Given the description of an element on the screen output the (x, y) to click on. 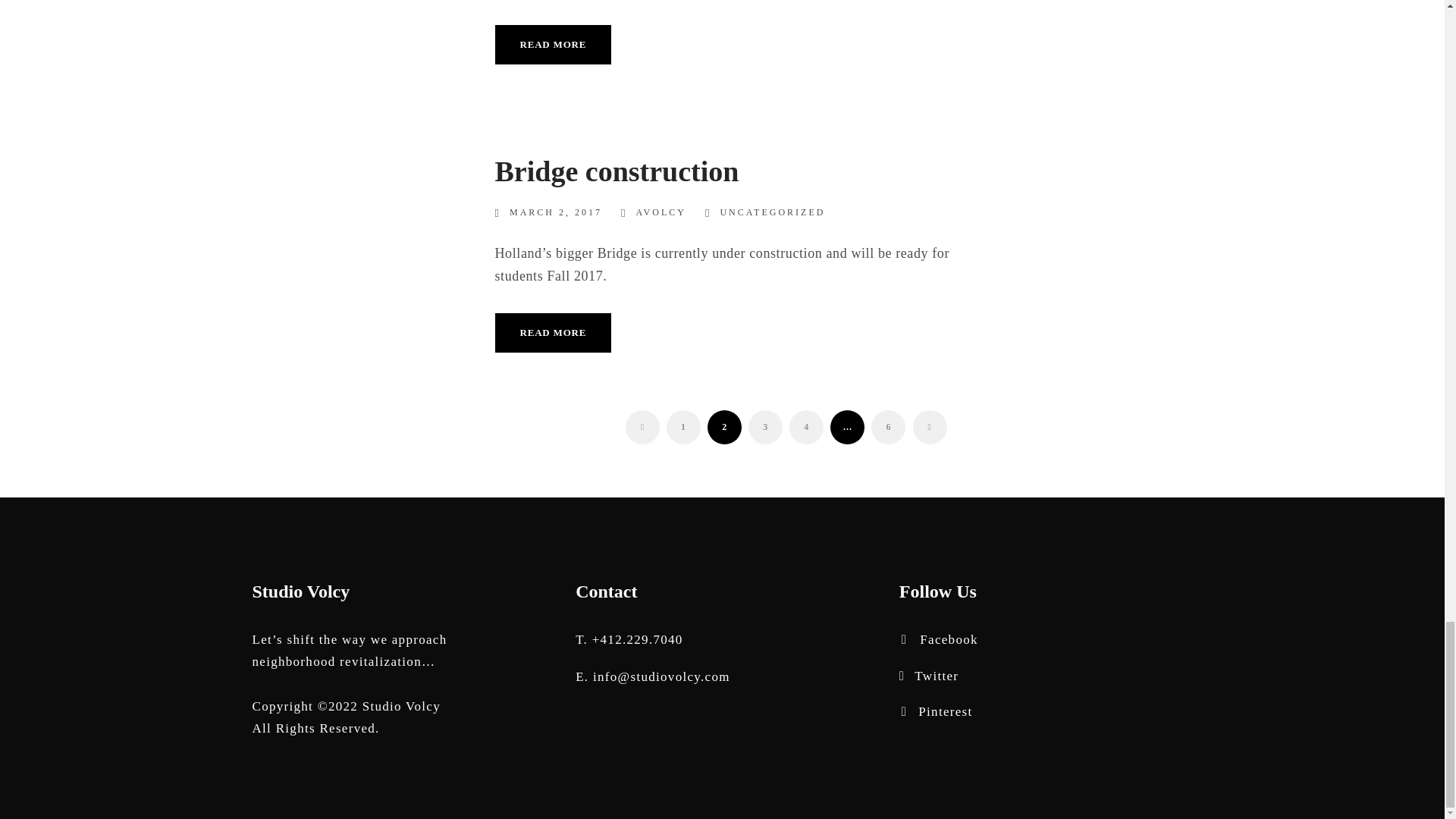
Posts by avolcy (659, 212)
